Given the description of an element on the screen output the (x, y) to click on. 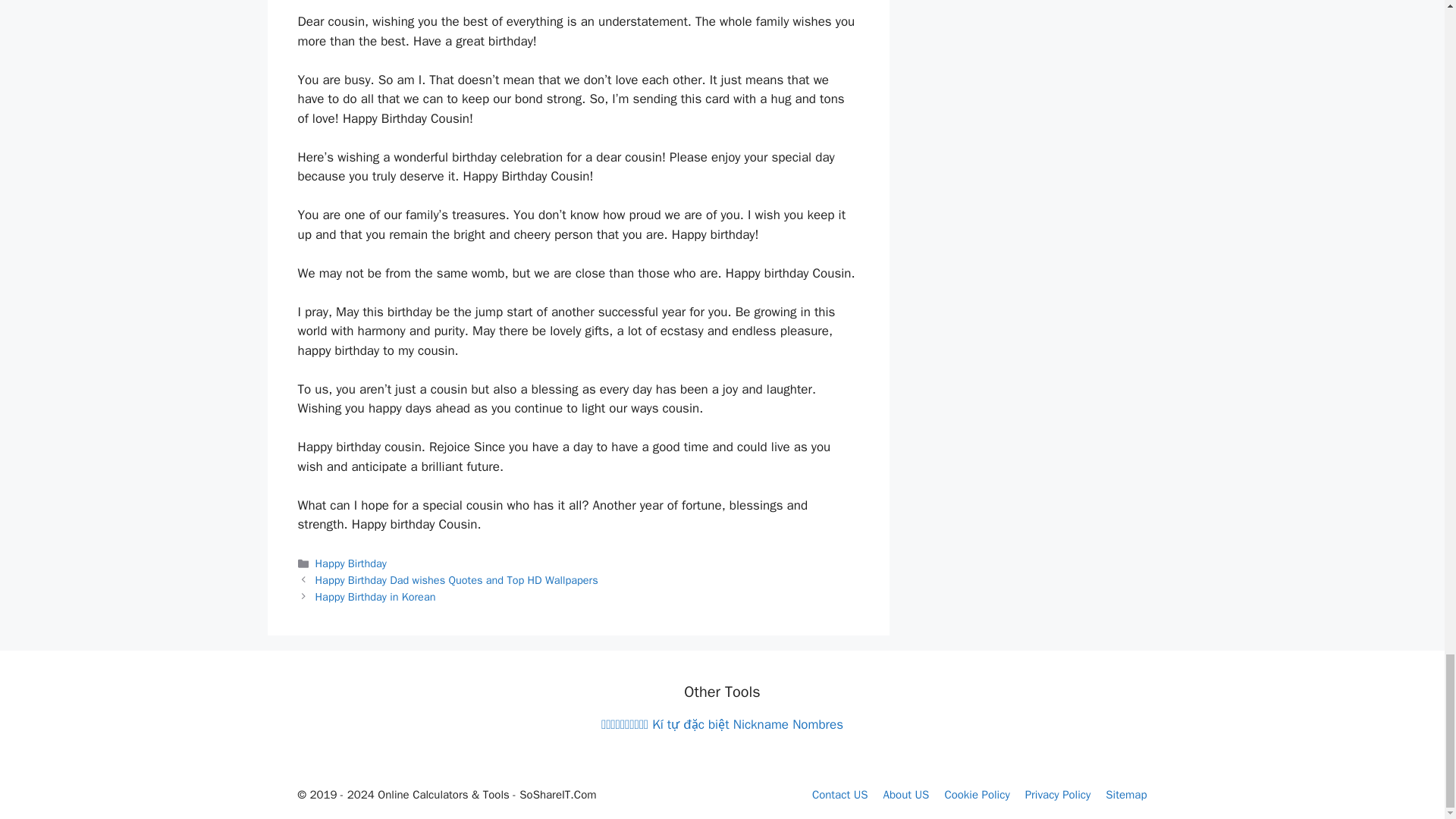
Happy Birthday in Korean (375, 596)
Happy Birthday Dad wishes Quotes and Top HD Wallpapers (456, 580)
Happy Birthday (351, 563)
Nickname (761, 724)
